Given the description of an element on the screen output the (x, y) to click on. 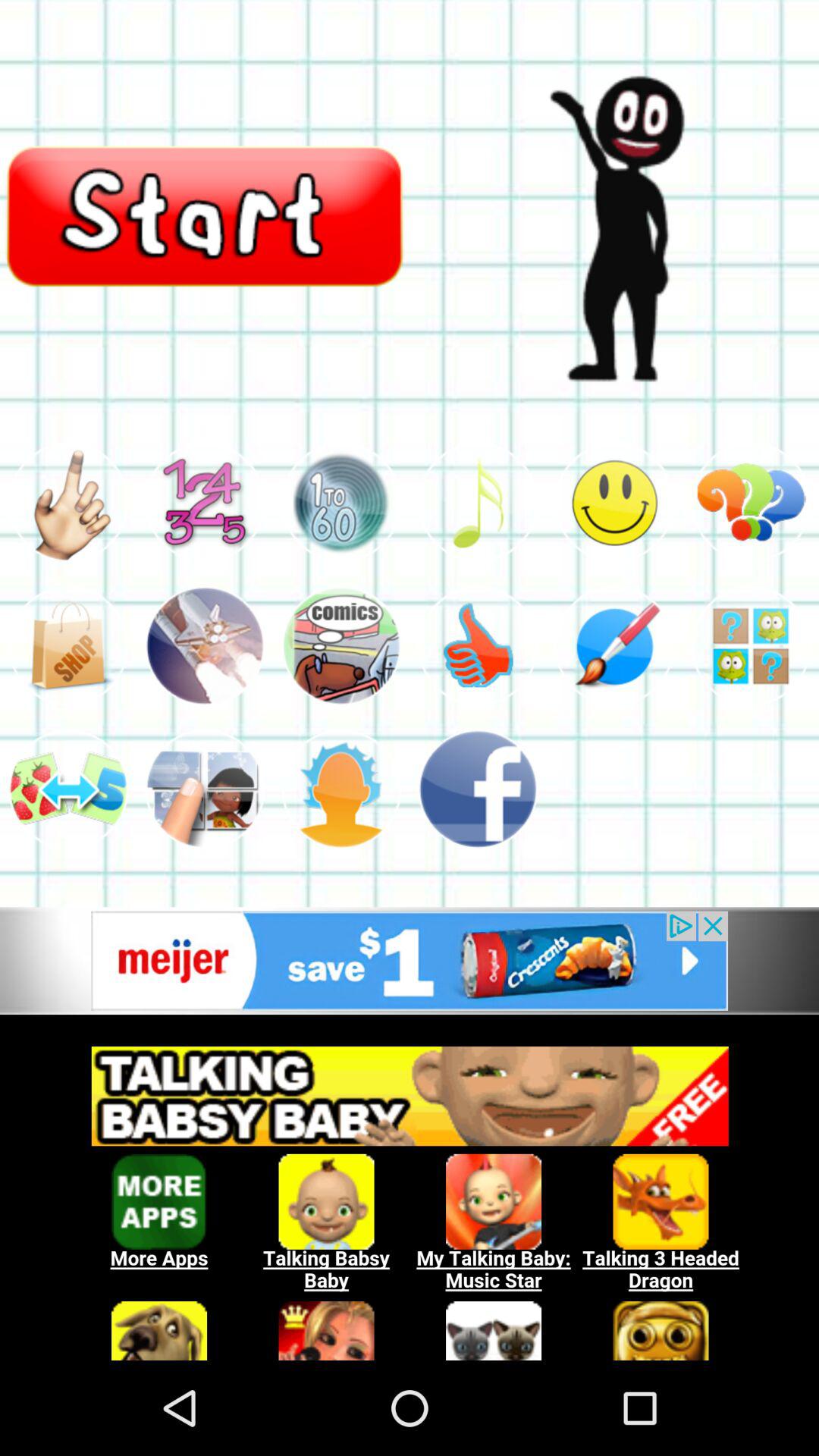
adsense link (409, 1195)
